Given the description of an element on the screen output the (x, y) to click on. 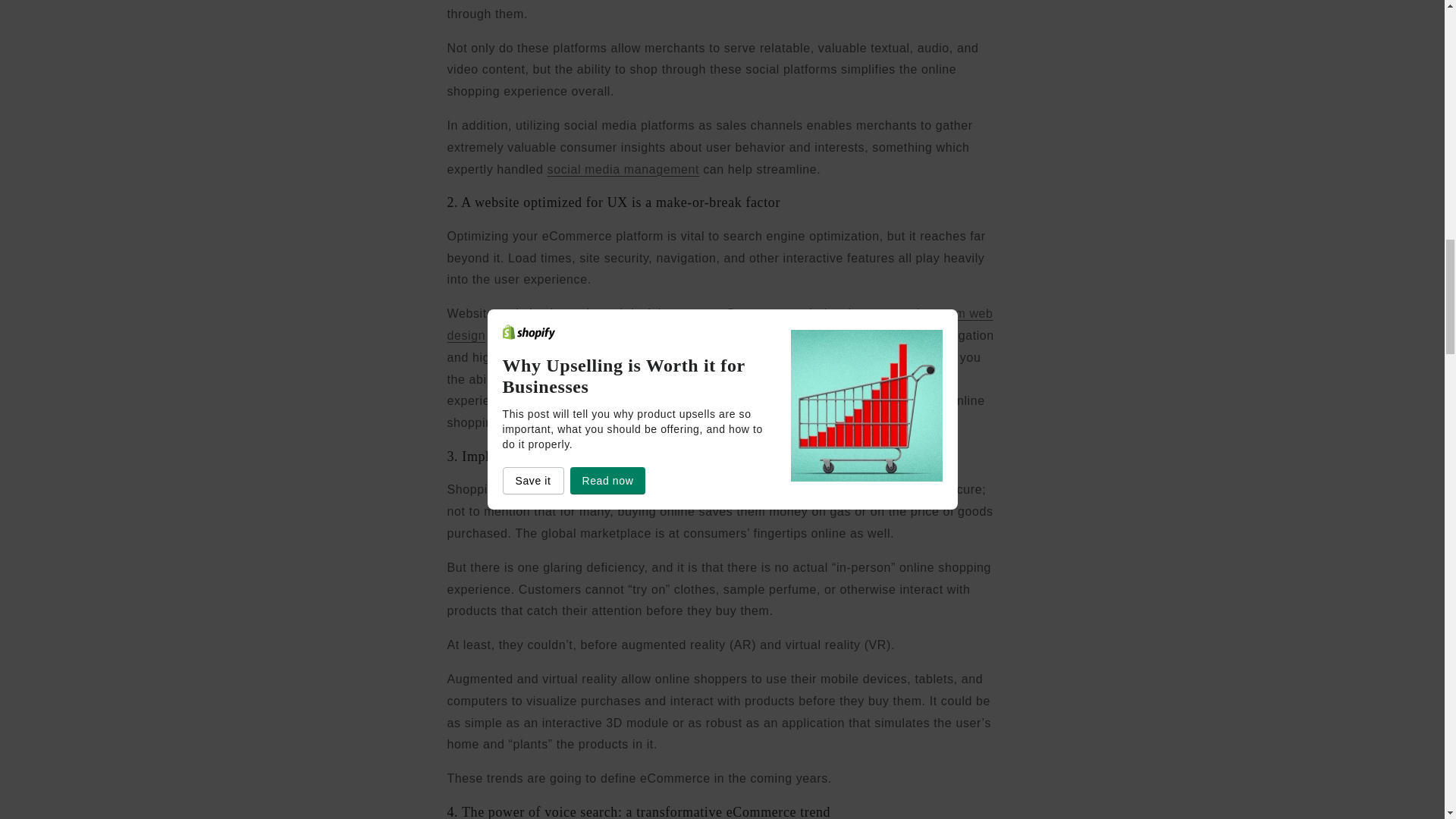
eCommerce web development (807, 313)
social media management (623, 169)
custom web design (719, 324)
